Given the description of an element on the screen output the (x, y) to click on. 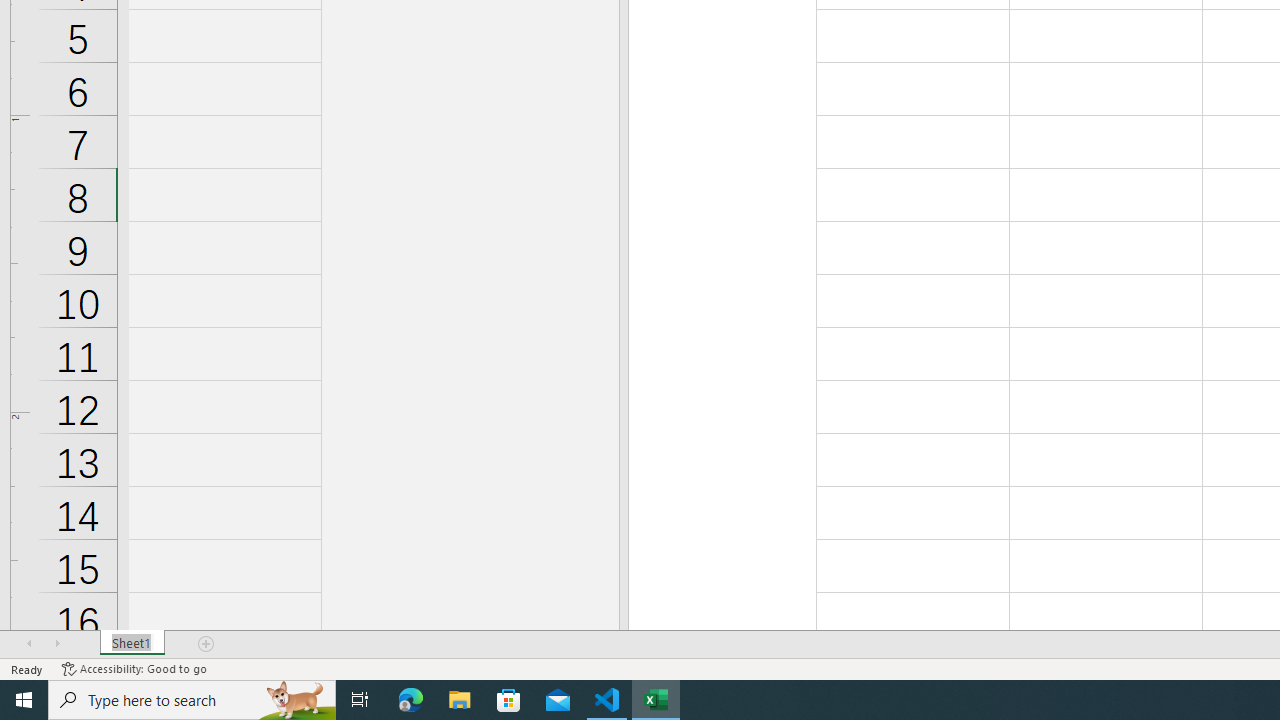
Scroll Right (57, 644)
Sheet1 (132, 644)
Accessibility Checker Accessibility: Good to go (134, 668)
Add Sheet (207, 644)
Scroll Left (29, 644)
